Given the description of an element on the screen output the (x, y) to click on. 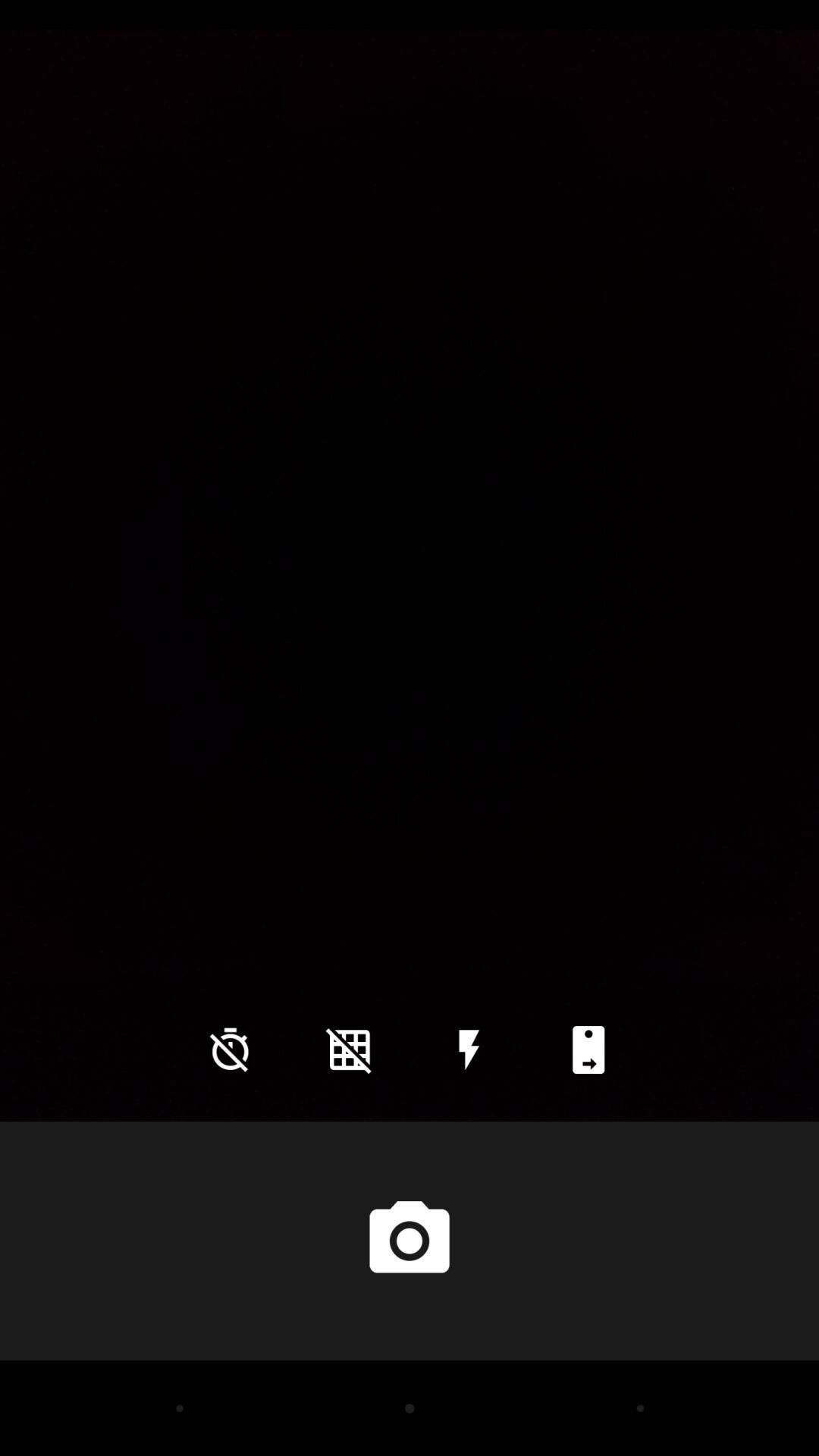
click the item at the bottom right corner (588, 1049)
